Given the description of an element on the screen output the (x, y) to click on. 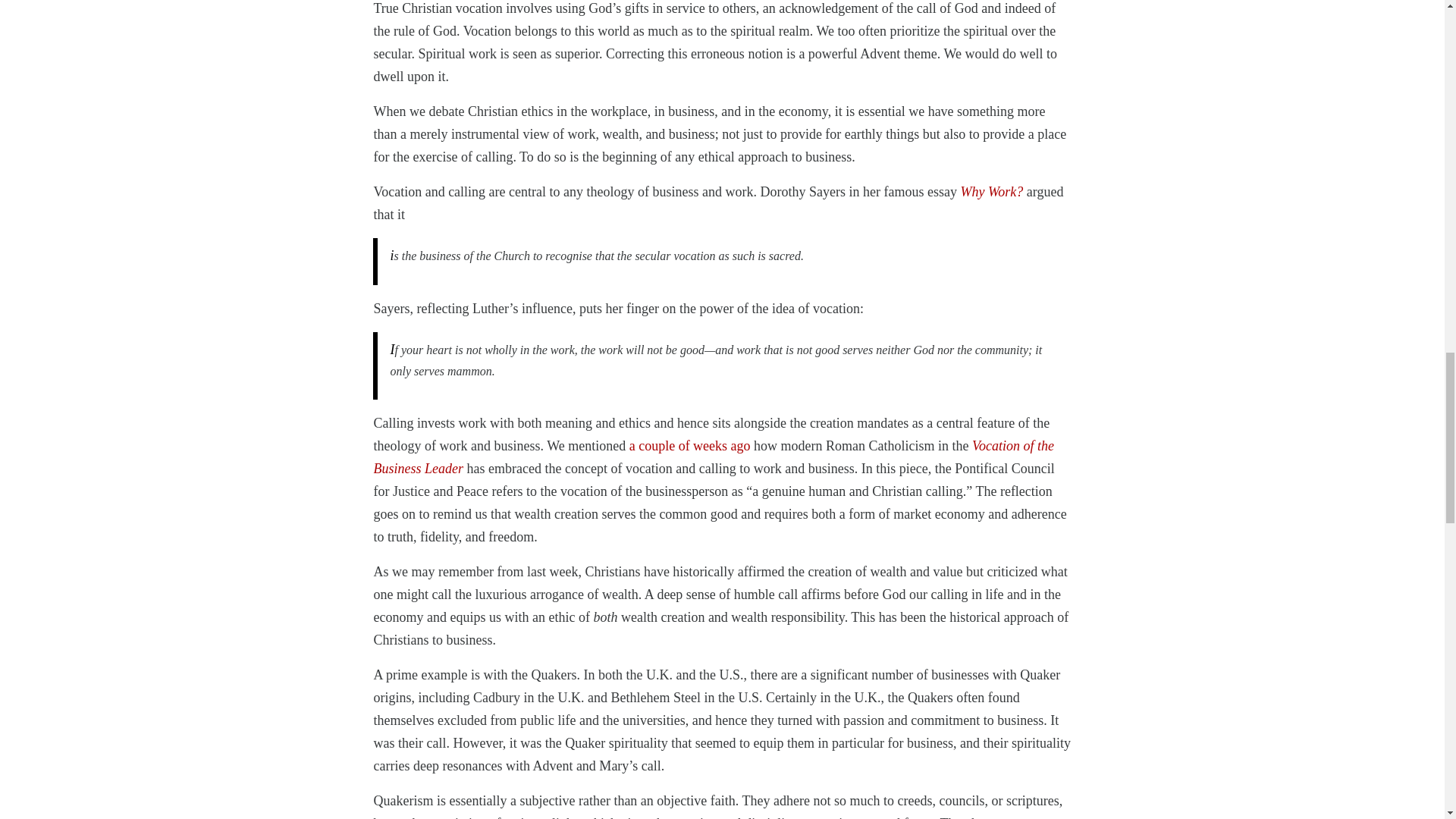
Why Work? (991, 191)
Vocation of the Business Leader (713, 456)
a couple of weeks ago (689, 445)
